Given the description of an element on the screen output the (x, y) to click on. 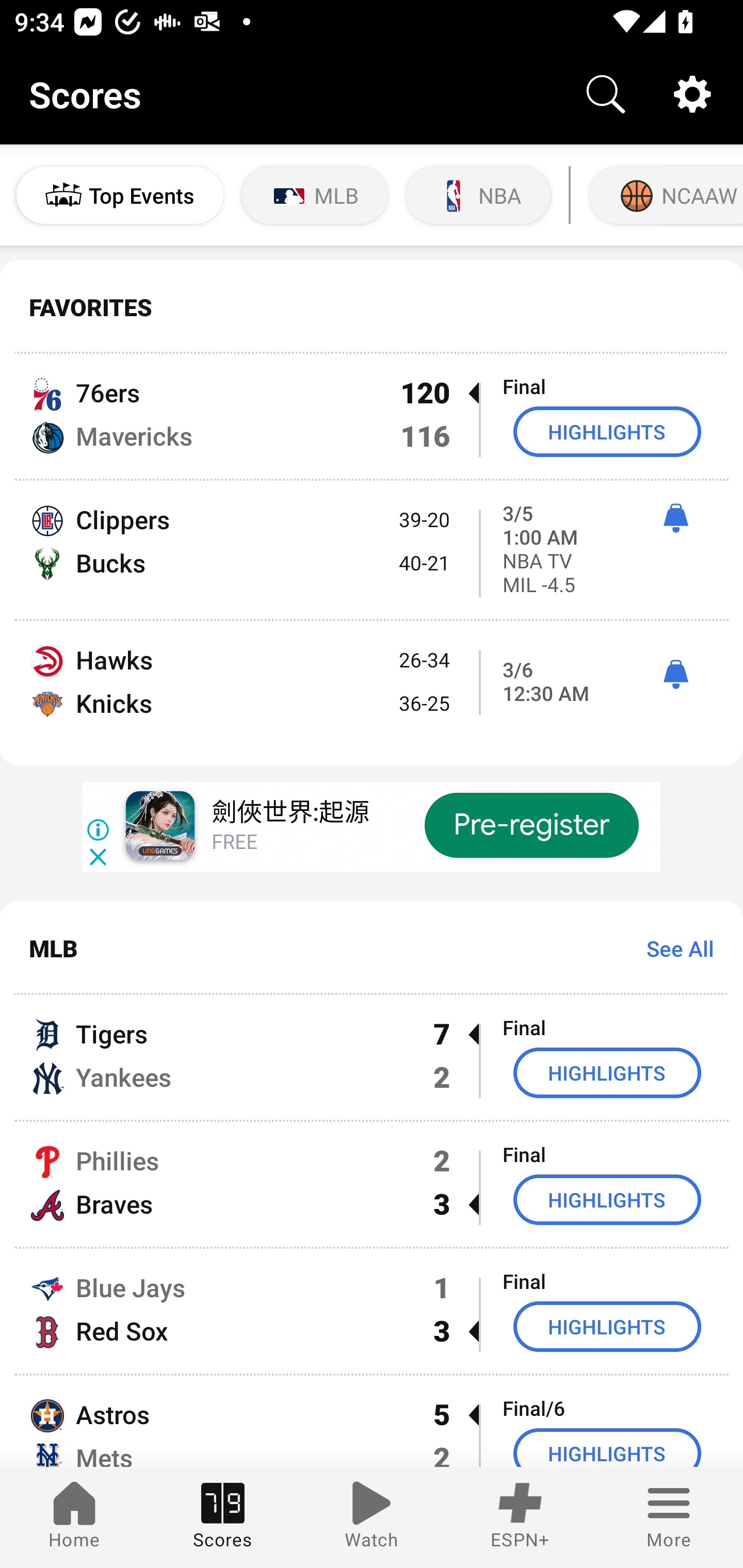
Search (605, 93)
Settings (692, 93)
 Top Events (119, 194)
MLB (314, 194)
NBA (477, 194)
NCAAW (664, 194)
FAVORITES (371, 307)
76ers 120  Final Mavericks 116 HIGHLIGHTS (371, 416)
HIGHLIGHTS (607, 431)
ì (675, 517)
Hawks 26-34 Knicks 36-25 3/6 12:30 AM ì (371, 692)
ì (675, 674)
Pre-register (530, 825)
劍俠世界:起源 (289, 813)
FREE (234, 843)
MLB See All (371, 948)
See All (673, 947)
Tigers 7  Final Yankees 2 HIGHLIGHTS (371, 1057)
HIGHLIGHTS (607, 1072)
Phillies 2 Final Braves 3  HIGHLIGHTS (371, 1183)
HIGHLIGHTS (607, 1199)
Blue Jays 1 Final Red Sox 3  HIGHLIGHTS (371, 1310)
HIGHLIGHTS (607, 1326)
Astros 5  Final/6 Mets 2 HIGHLIGHTS (371, 1421)
HIGHLIGHTS (607, 1447)
Home (74, 1517)
Watch (371, 1517)
ESPN+ (519, 1517)
More (668, 1517)
